Given the description of an element on the screen output the (x, y) to click on. 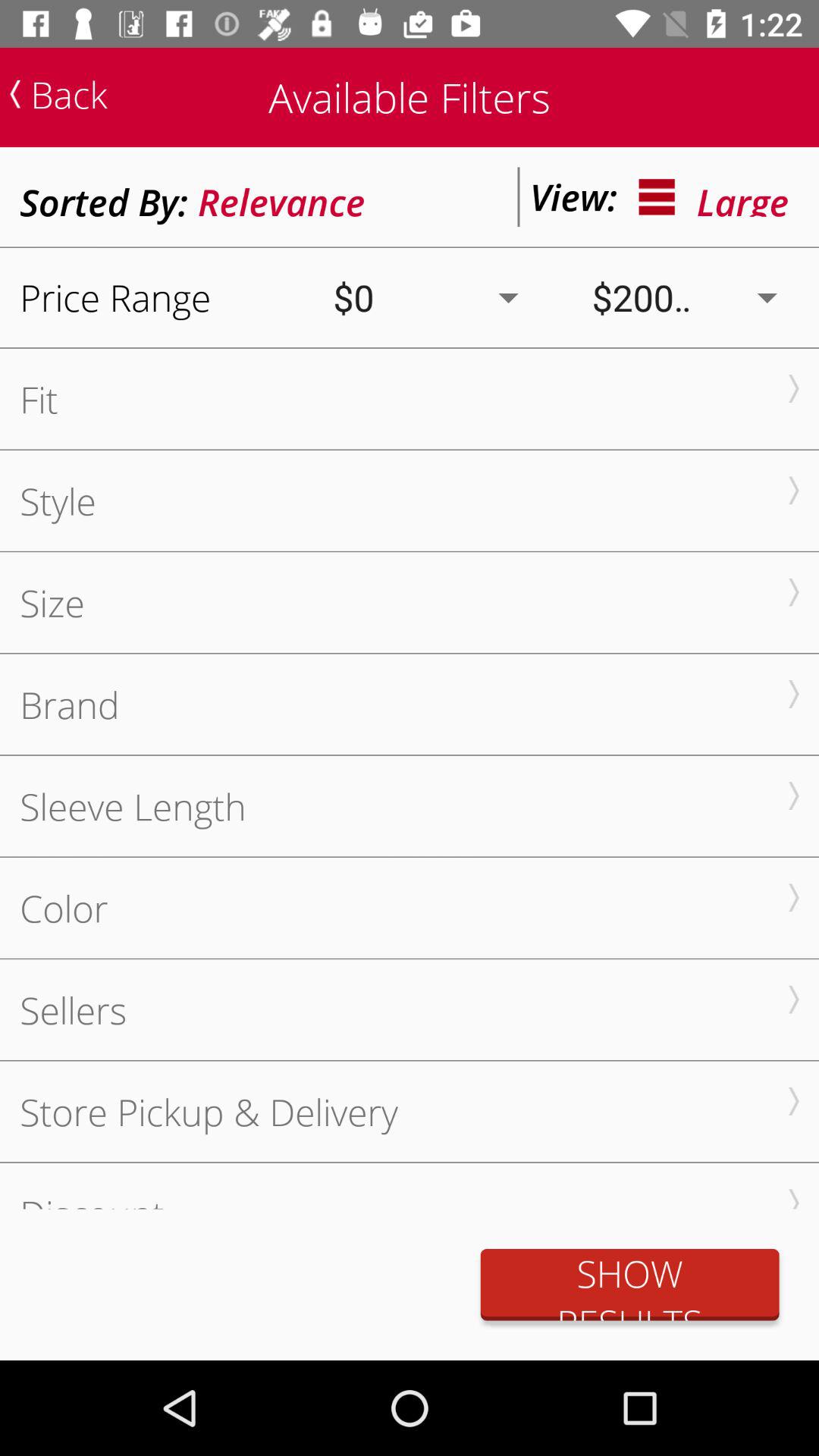
swipe until relevance item (281, 196)
